Given the description of an element on the screen output the (x, y) to click on. 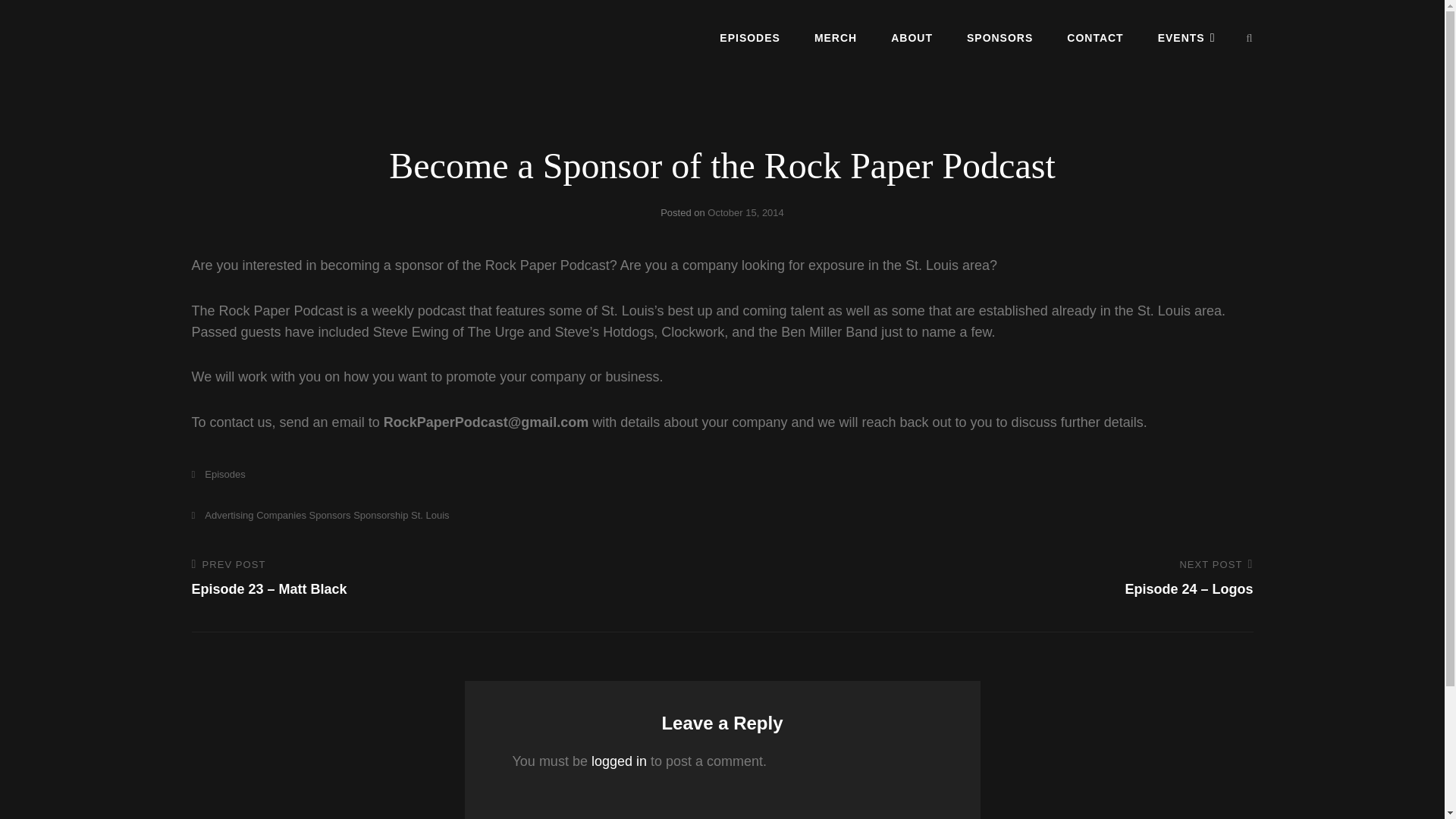
EPISODES (749, 37)
Companies (280, 514)
CONTACT (1094, 37)
EVENTS (1186, 37)
October 15, 2014 (745, 212)
logged in (618, 761)
SEARCH (1249, 37)
MERCH (835, 37)
SPONSORS (1000, 37)
St. Louis (429, 514)
Sponsors (329, 514)
ABOUT (911, 37)
Episodes (217, 473)
ROCK PAPER PODCAST (304, 50)
Advertising (221, 514)
